Given the description of an element on the screen output the (x, y) to click on. 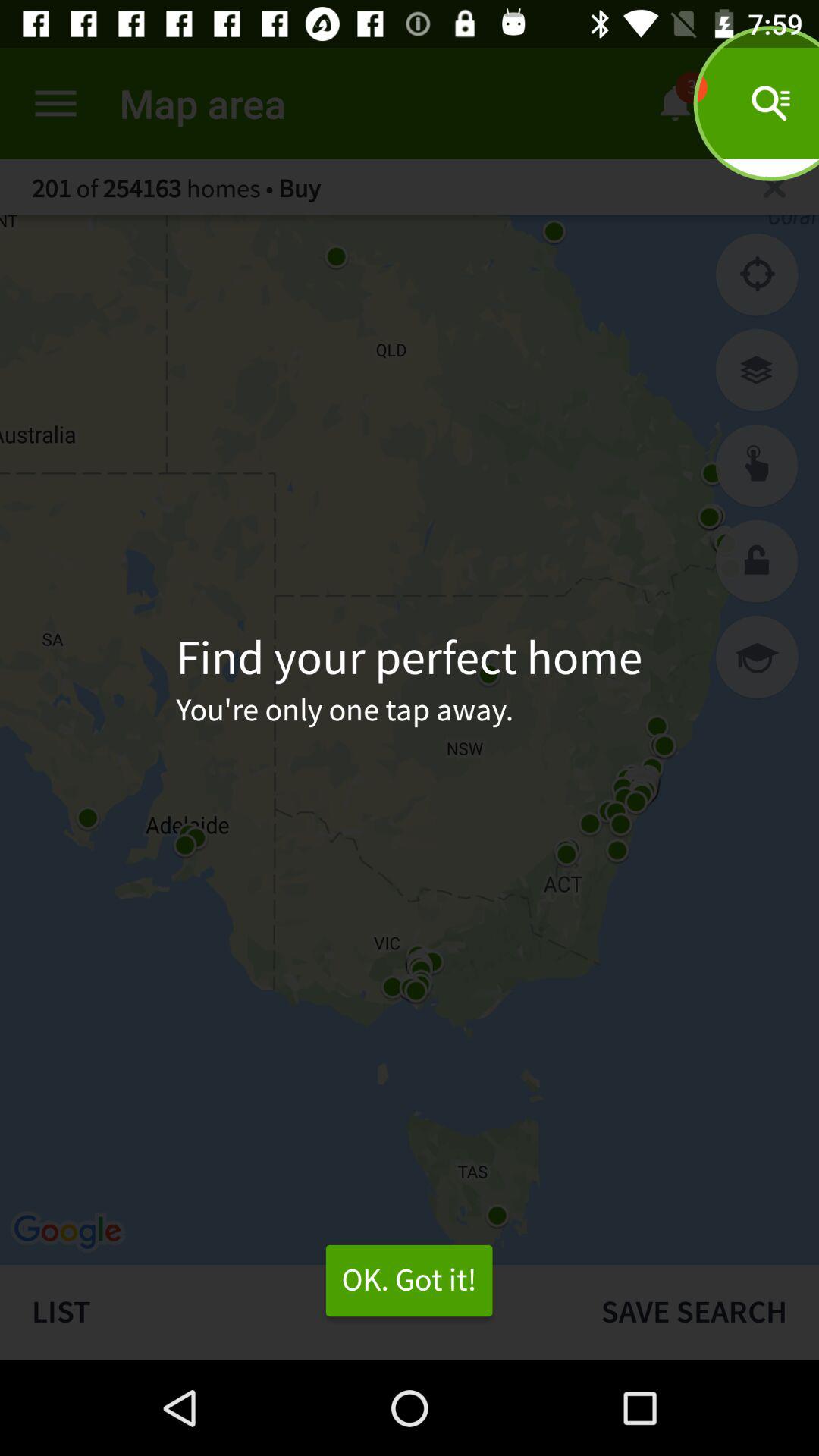
press the icon next to 201 of 254163 (774, 186)
